Given the description of an element on the screen output the (x, y) to click on. 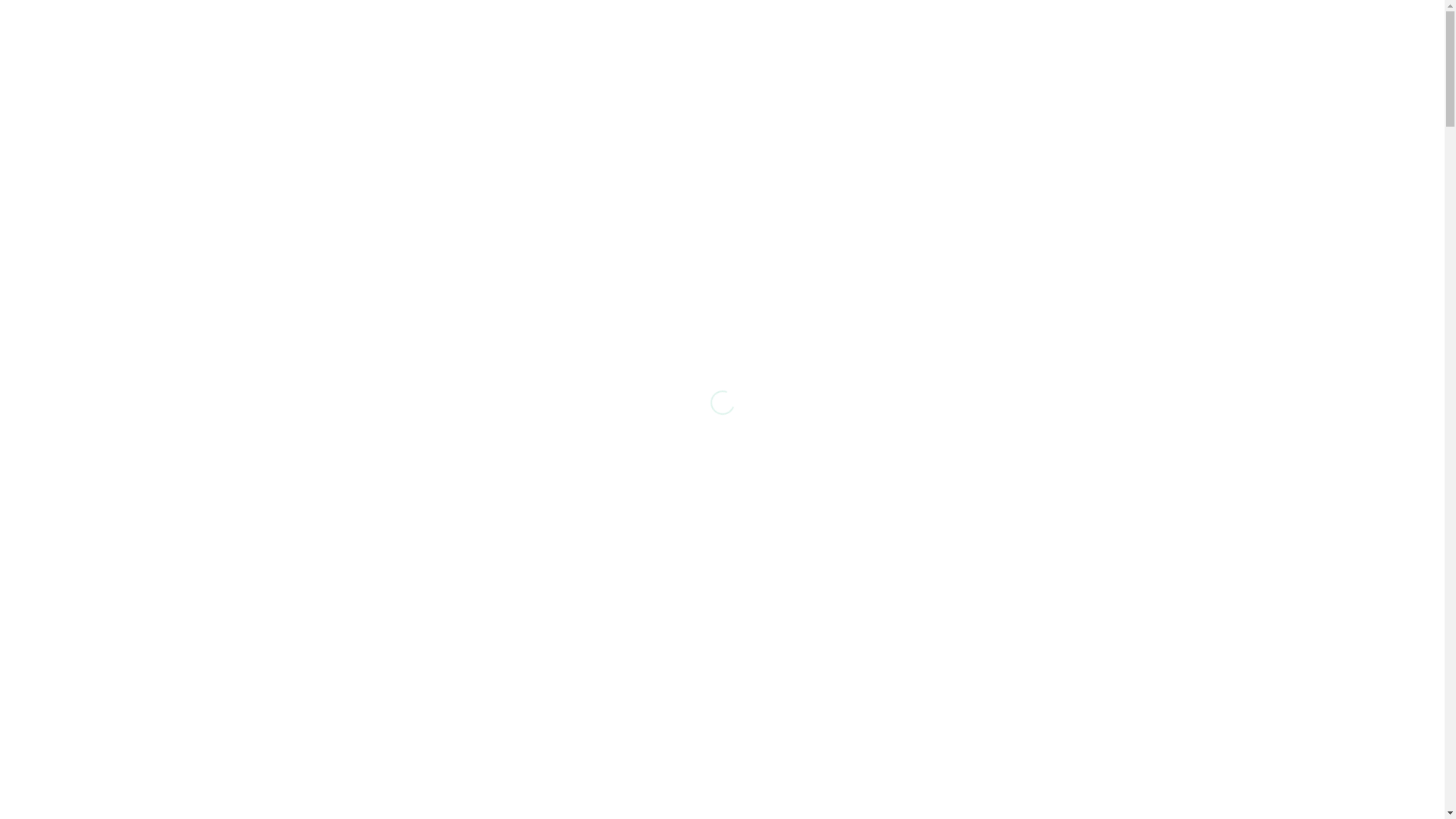
Prendre Rendez-vous Element type: text (1231, 67)
SUR MESURE SUR MESURE Element type: text (134, 48)
SAVOIR FAIRE SAVOIR FAIRE Element type: text (334, 48)
NOS CLIENTS NOS CLIENTS Element type: text (136, 84)
BLOG BLOG Element type: text (297, 84)
Compte Element type: text (1356, 66)
